Given the description of an element on the screen output the (x, y) to click on. 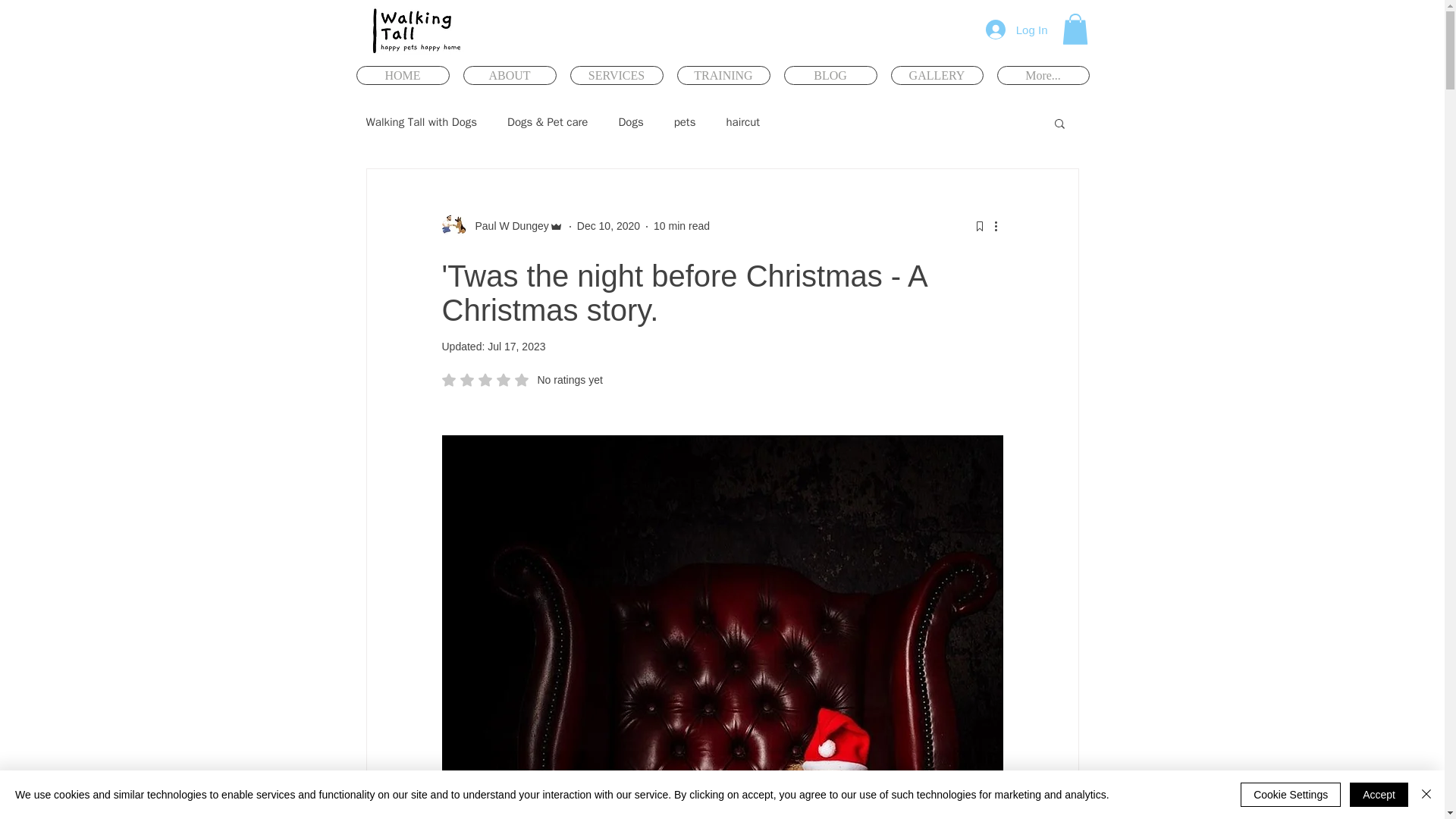
Log In (1016, 29)
Dec 10, 2020 (608, 225)
10 min read (681, 225)
pets (684, 122)
Jul 17, 2023 (515, 346)
BLOG (830, 75)
Walking Tall with Dogs (421, 122)
Dogs (630, 122)
HOME (402, 75)
ABOUT (509, 75)
Paul W Dungey (521, 379)
GALLERY (506, 226)
TRAINING (935, 75)
haircut (723, 75)
